Given the description of an element on the screen output the (x, y) to click on. 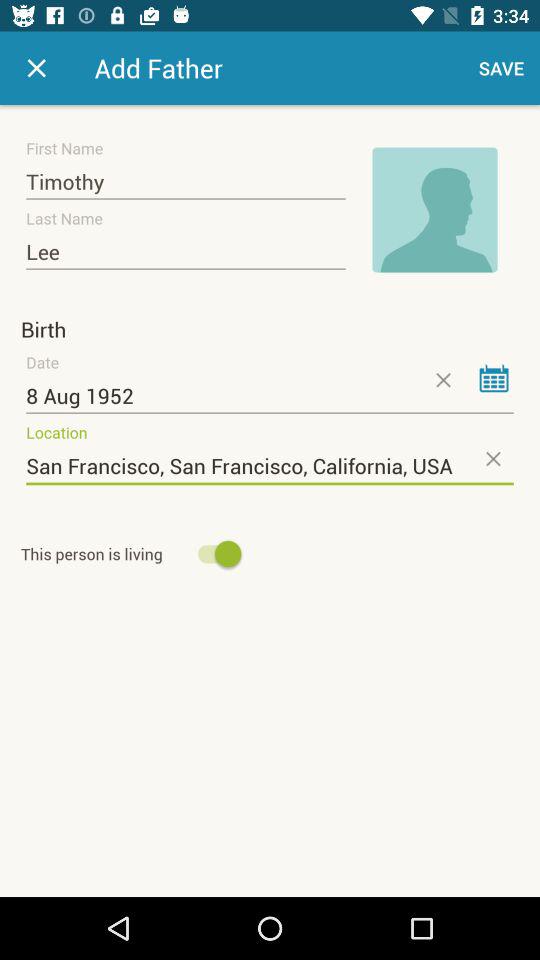
open app to the left of the add father (36, 68)
